Given the description of an element on the screen output the (x, y) to click on. 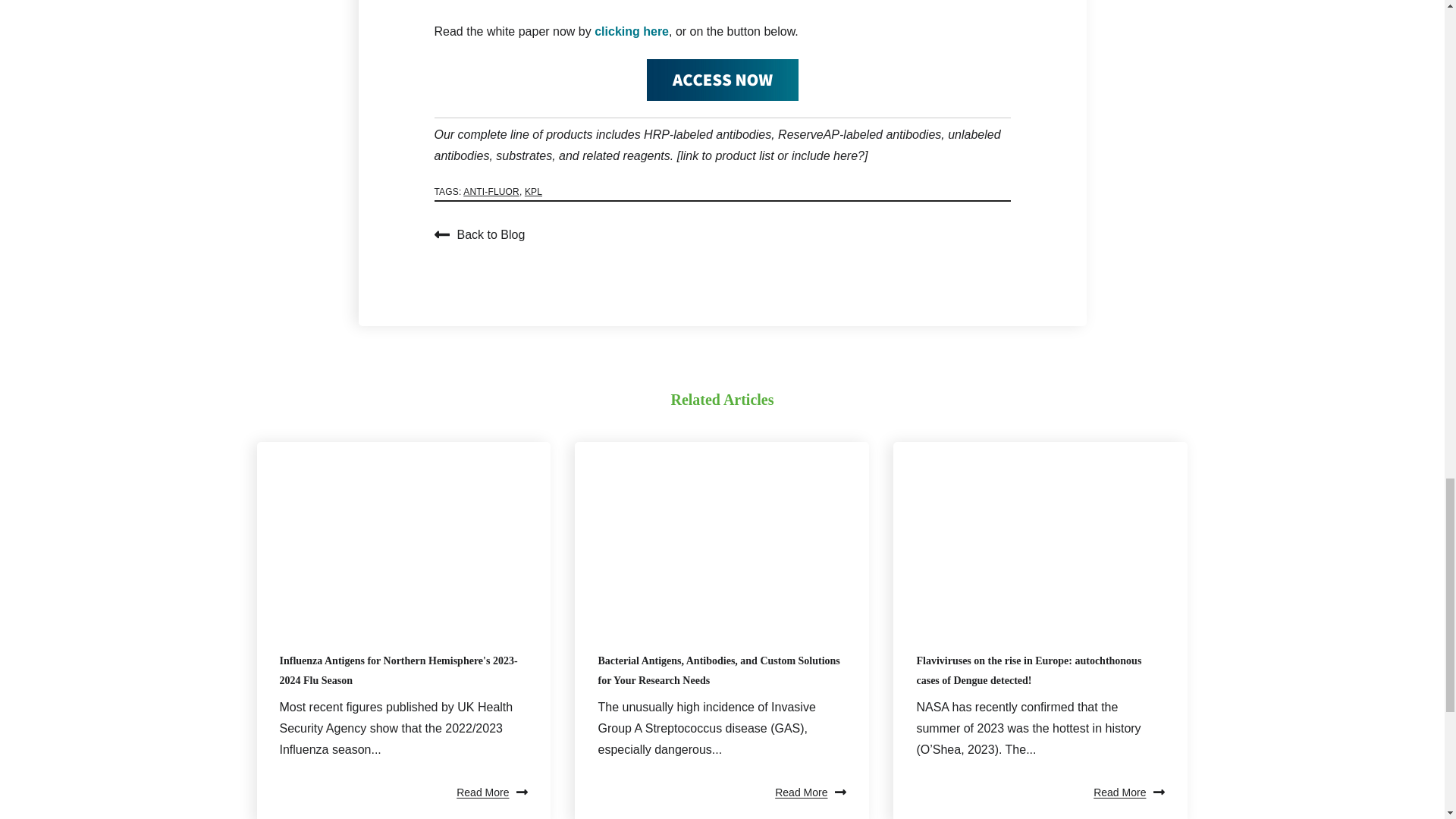
clicking here (631, 31)
Read More (809, 792)
ANTI-FLUOR (491, 191)
Read More (492, 792)
KPL (532, 191)
Back to Blog (478, 234)
